Given the description of an element on the screen output the (x, y) to click on. 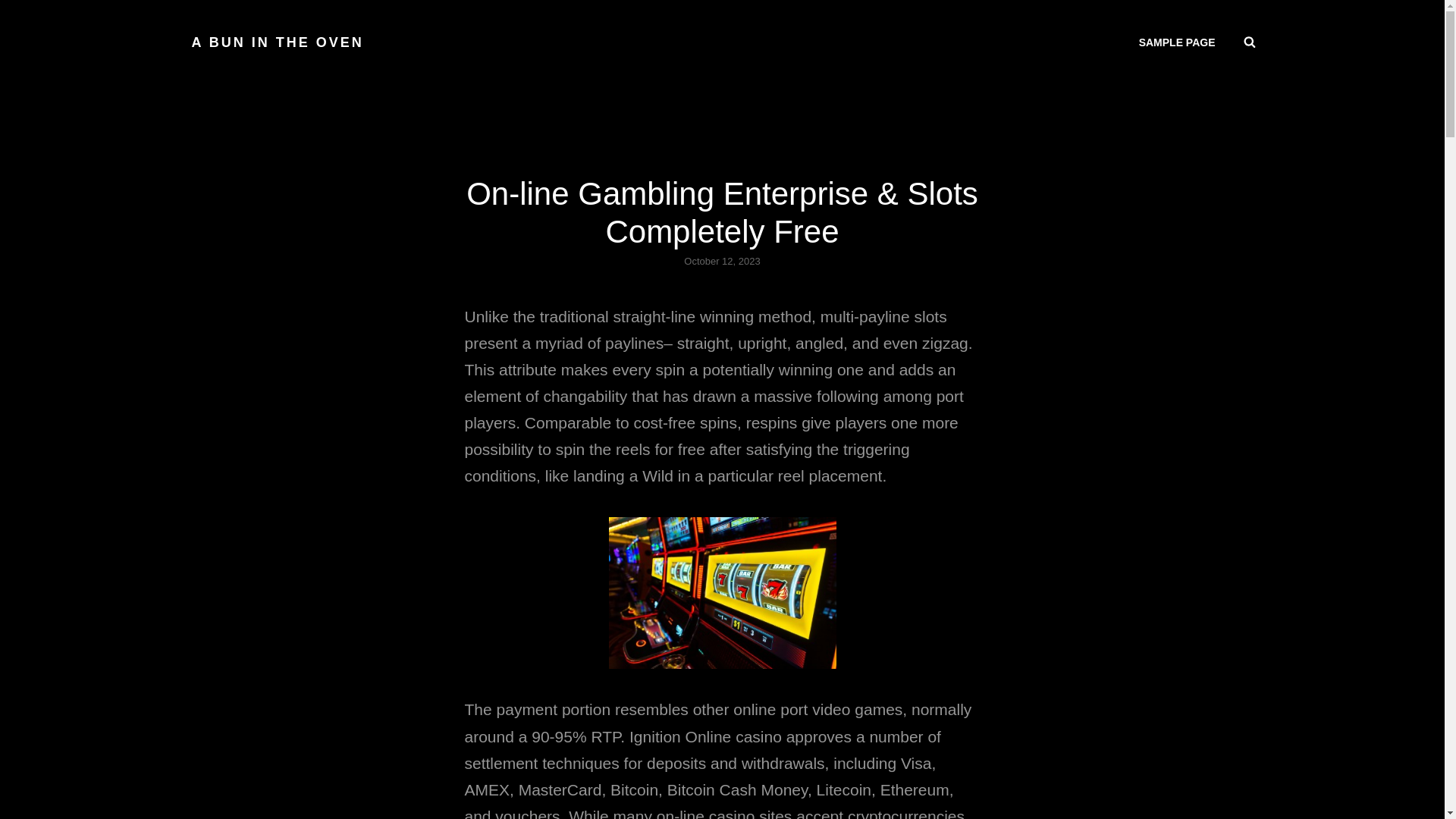
SAMPLE PAGE (1177, 42)
A BUN IN THE OVEN (276, 42)
October 12, 2023 (722, 260)
SEARCH (1249, 42)
